Given the description of an element on the screen output the (x, y) to click on. 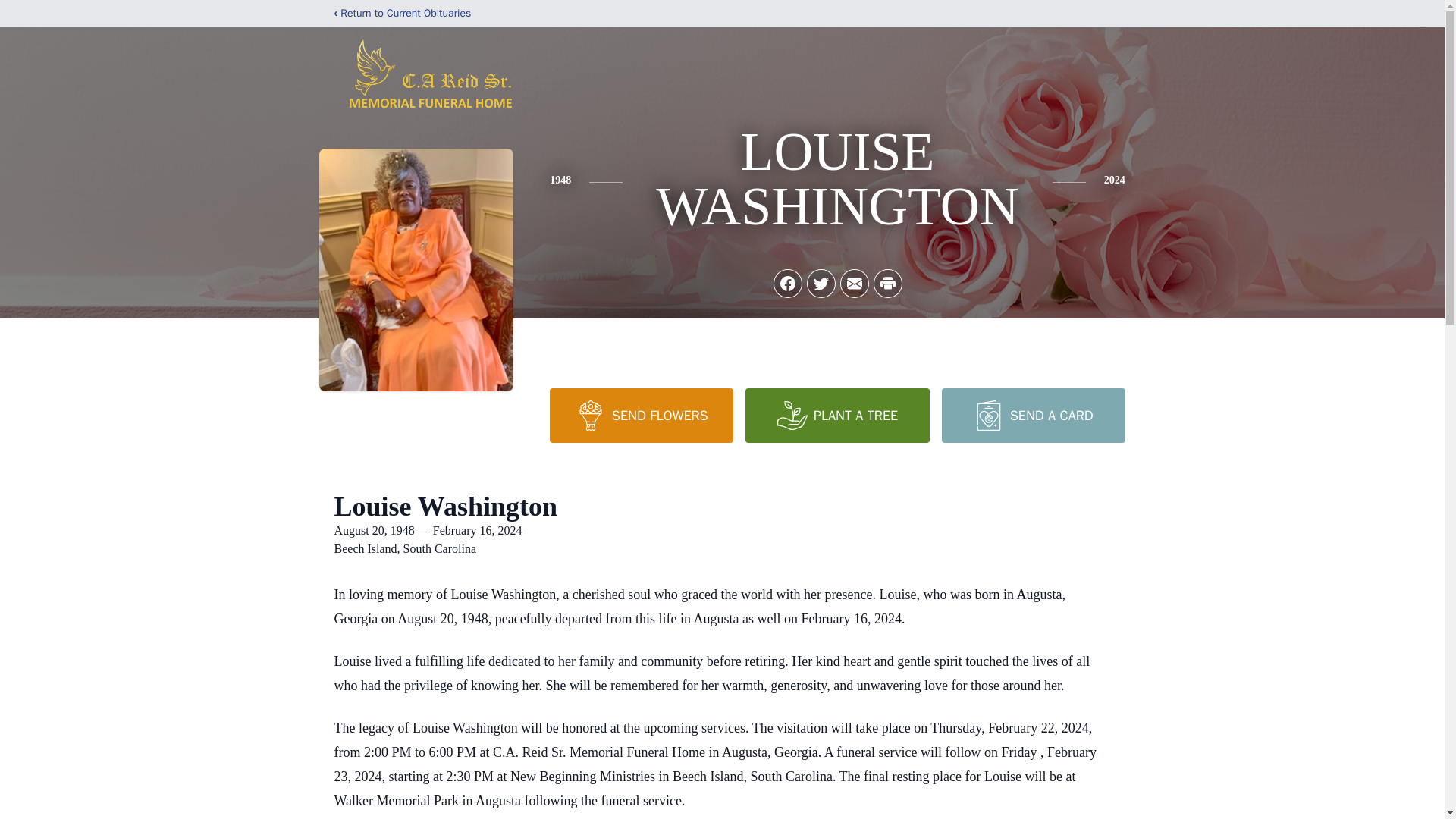
SEND FLOWERS (641, 415)
SEND A CARD (1033, 415)
PLANT A TREE (836, 415)
